Given the description of an element on the screen output the (x, y) to click on. 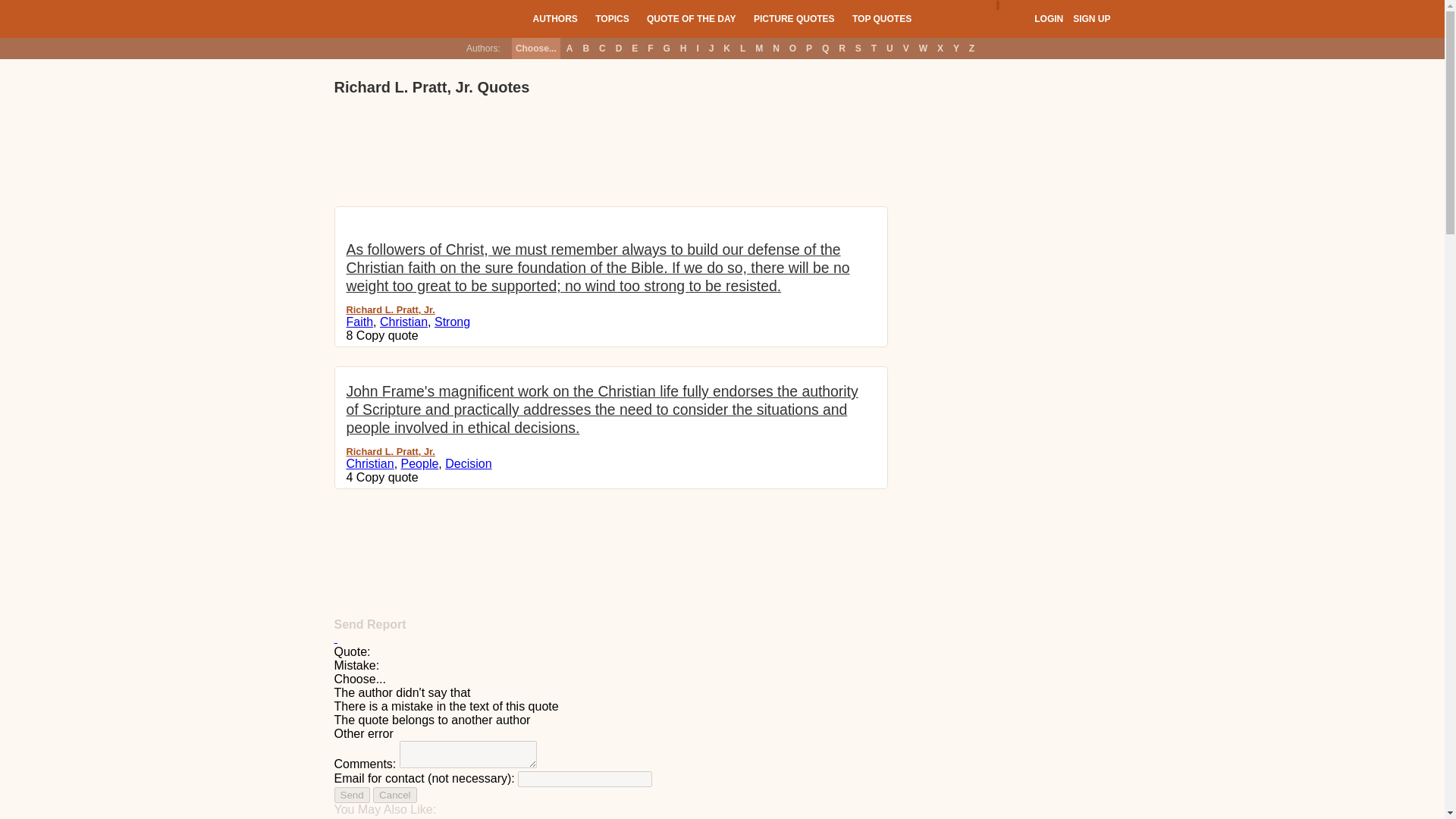
LOGIN (1047, 18)
TOPICS (612, 18)
Send (351, 795)
TOP QUOTES (881, 18)
QUOTE OF THE DAY (691, 18)
PICTURE QUOTES (794, 18)
Choose... (536, 47)
Quote is copied (387, 477)
Quote is copied (387, 335)
SIGN UP (1091, 18)
